Given the description of an element on the screen output the (x, y) to click on. 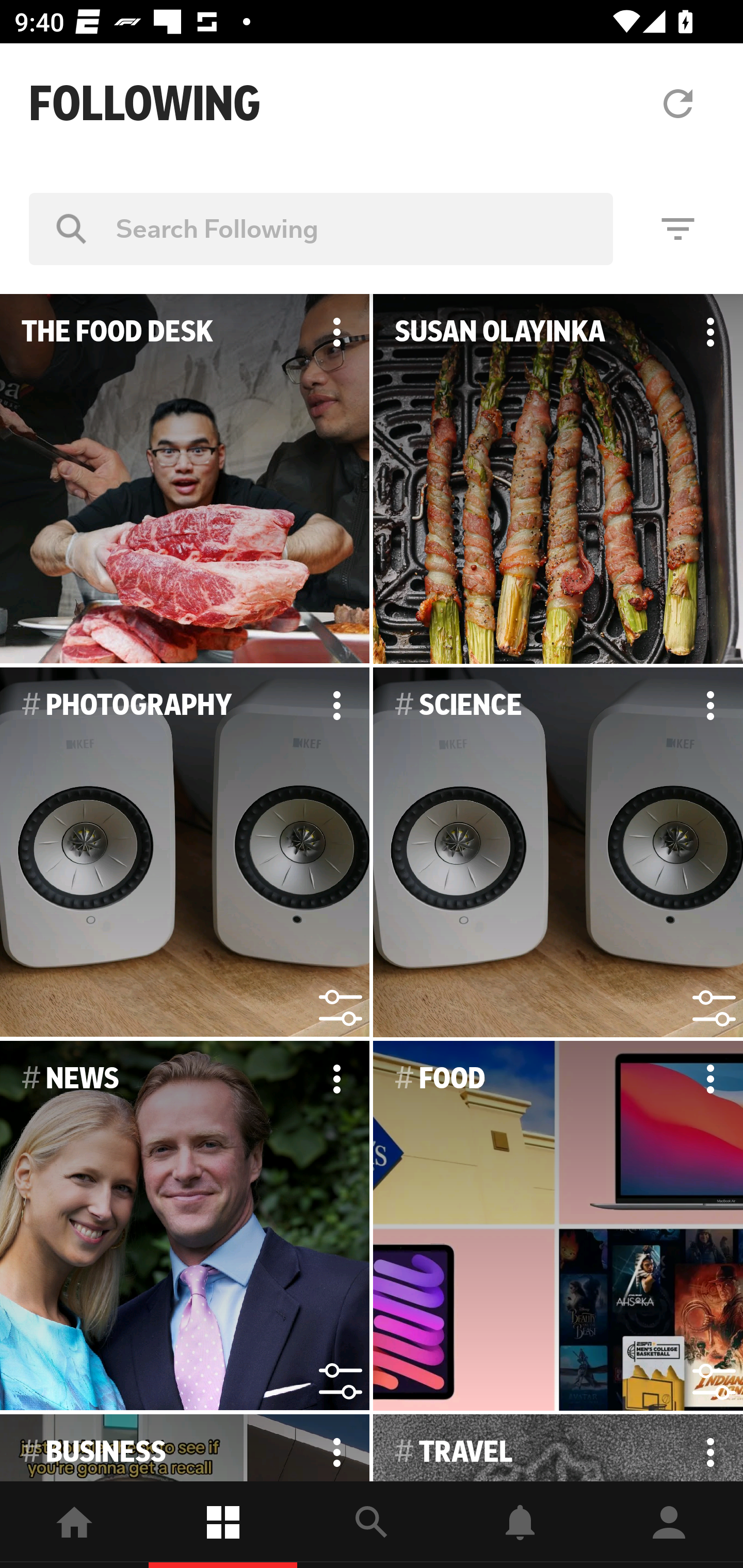
Search Following (320, 228)
THE FOOD DESK Options (184, 478)
Options (336, 332)
SUSAN OLAYINKA Options (557, 478)
Options (710, 332)
# PHOTOGRAPHY Options (184, 852)
Options (336, 705)
# SCIENCE Options (557, 852)
Options (710, 705)
# NEWS Options (184, 1226)
Options (336, 1078)
# FOOD Options (557, 1226)
Options (710, 1078)
Options (336, 1447)
Options (710, 1447)
home (74, 1524)
Following (222, 1524)
explore (371, 1524)
Notifications (519, 1524)
Profile (668, 1524)
